Given the description of an element on the screen output the (x, y) to click on. 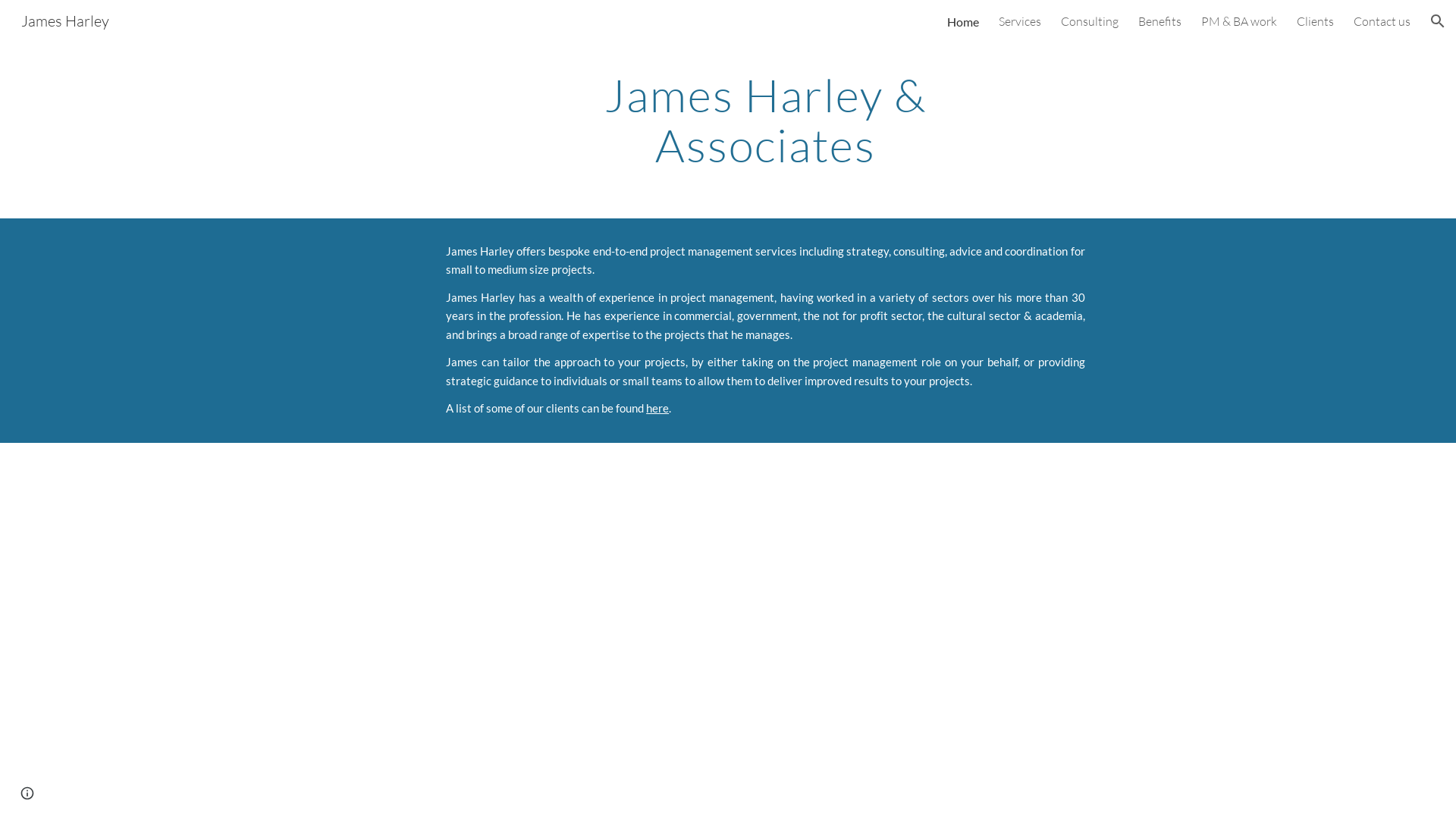
here Element type: text (657, 407)
Benefits Element type: text (1159, 20)
Home Element type: text (963, 20)
Consulting Element type: text (1089, 20)
Clients Element type: text (1314, 20)
Services Element type: text (1019, 20)
Contact us Element type: text (1381, 20)
James Harley Element type: text (65, 18)
PM & BA work Element type: text (1239, 20)
